Given the description of an element on the screen output the (x, y) to click on. 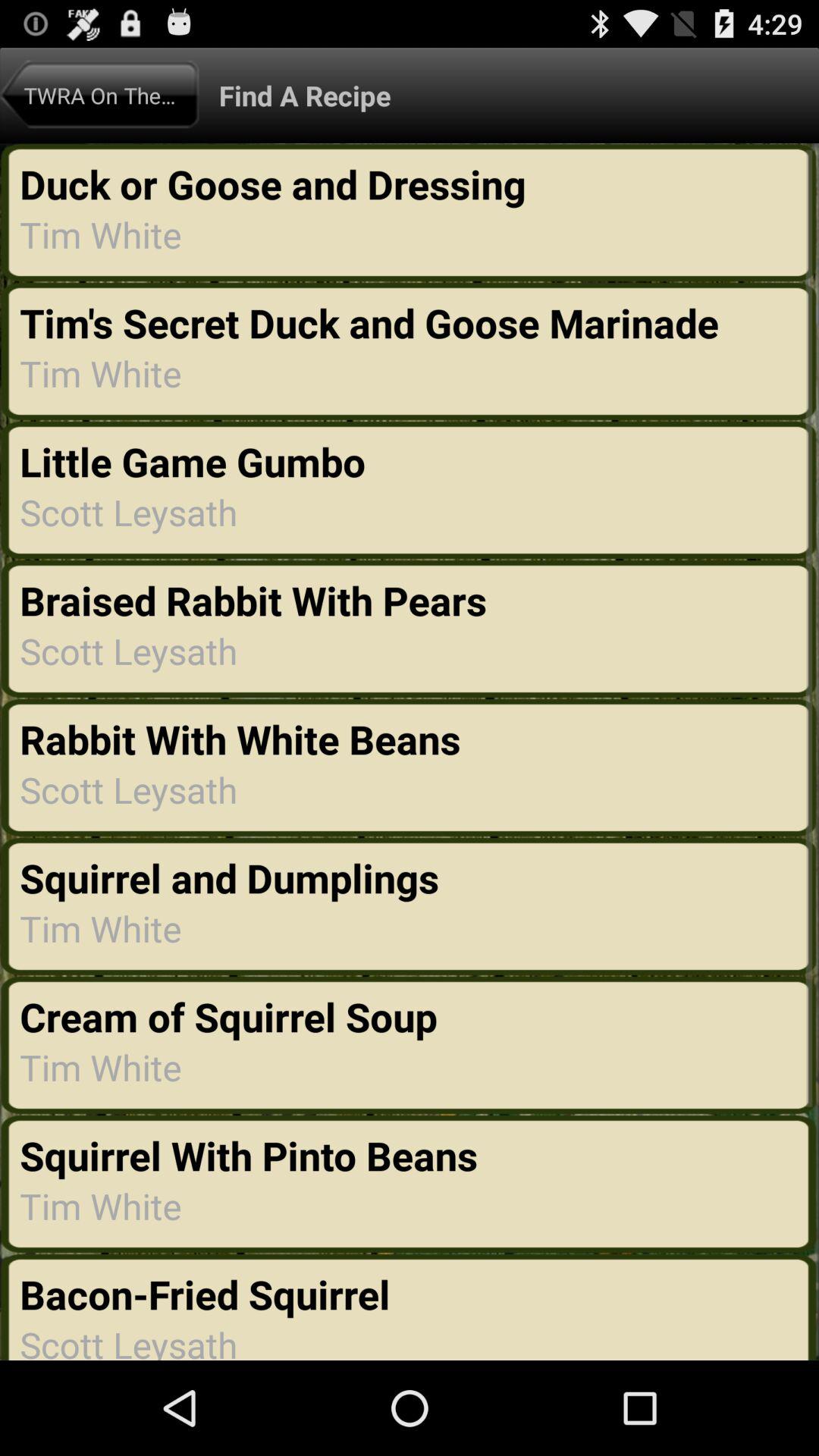
turn on twra on the app (99, 95)
